Given the description of an element on the screen output the (x, y) to click on. 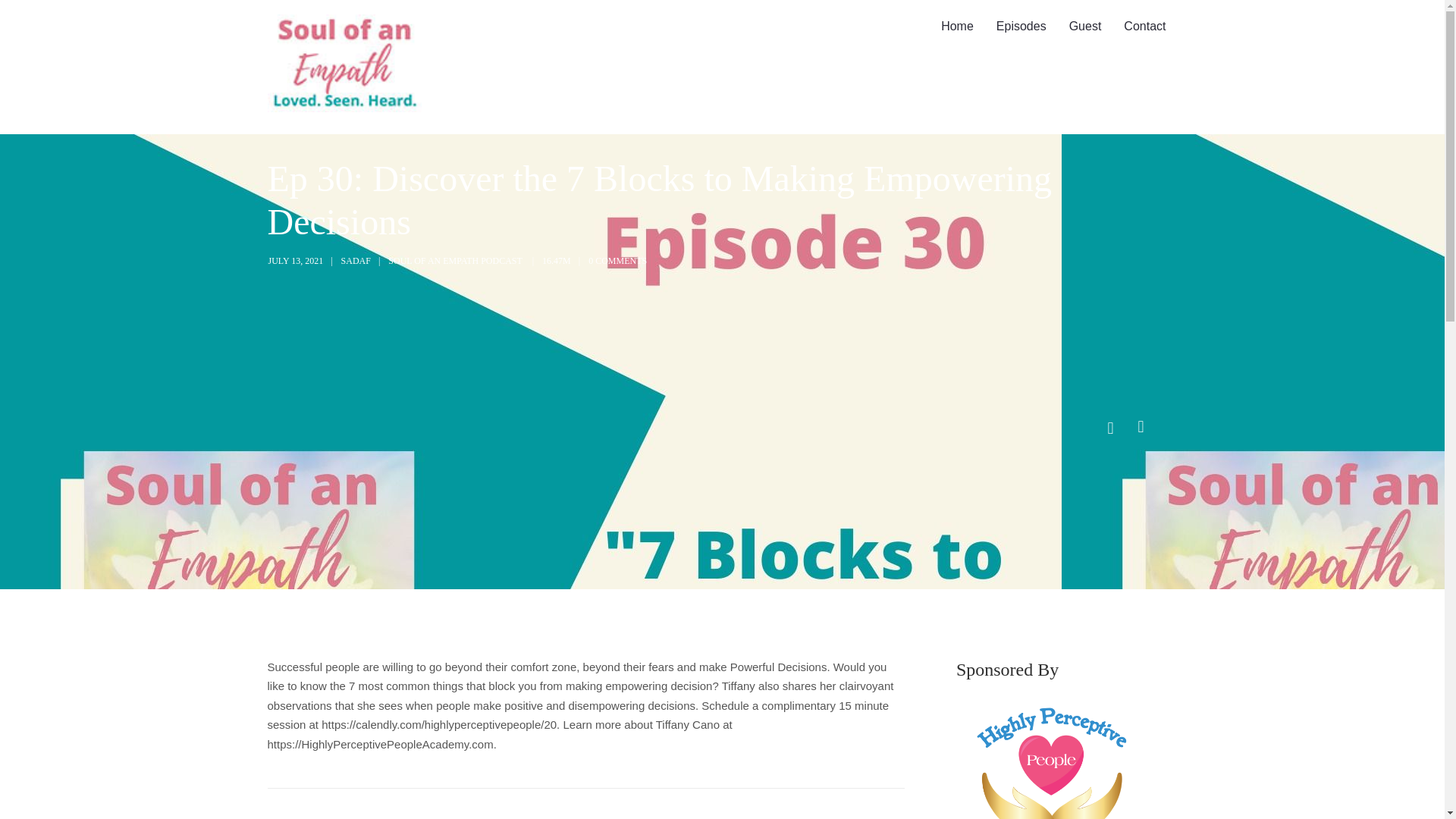
Home (957, 26)
Soul of An Empath Podcast (343, 67)
Episodes (1021, 26)
